Given the description of an element on the screen output the (x, y) to click on. 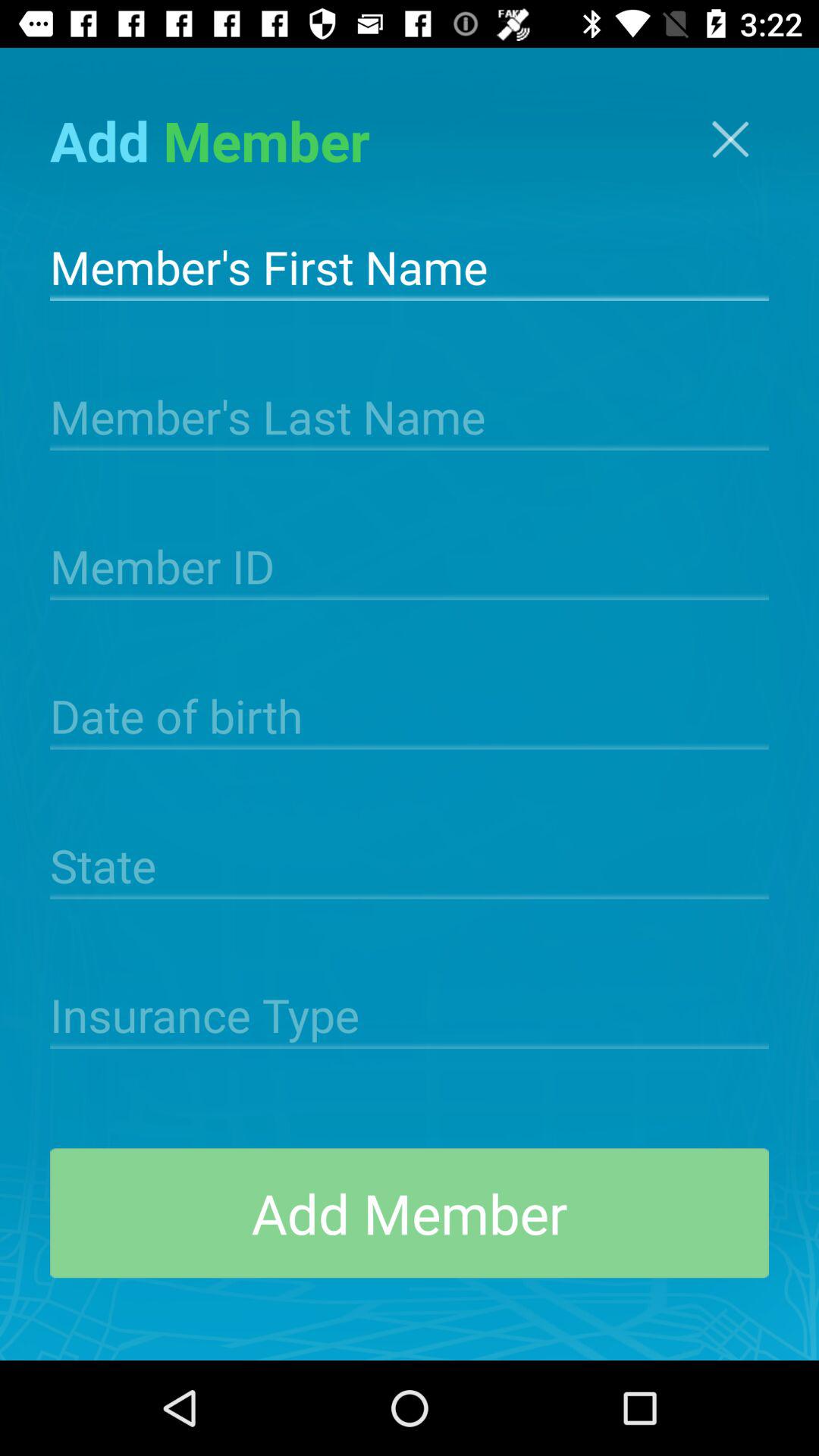
autoi fill date of birth (409, 714)
